Given the description of an element on the screen output the (x, y) to click on. 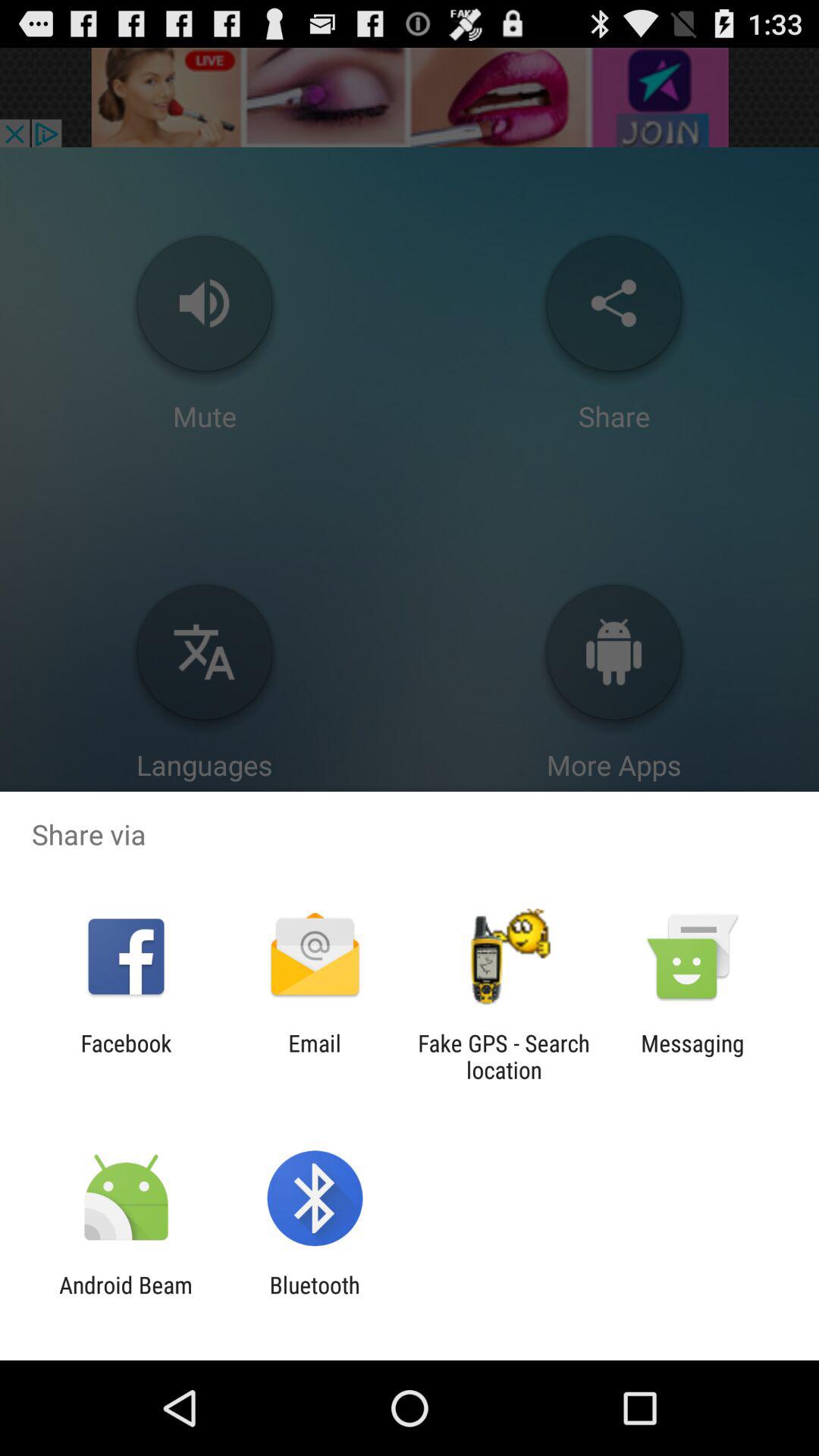
launch icon next to the fake gps search item (692, 1056)
